Given the description of an element on the screen output the (x, y) to click on. 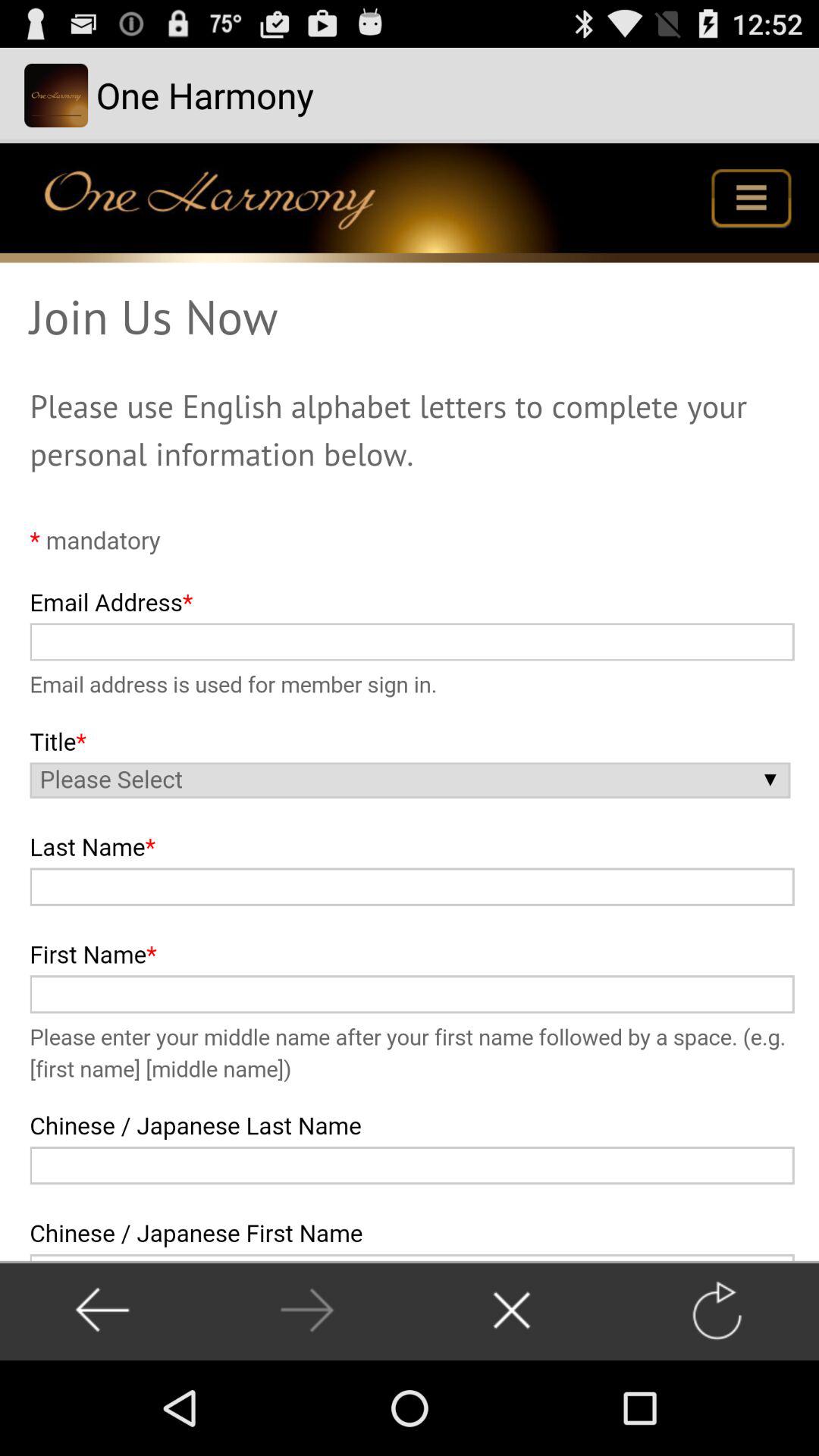
fill out profile (409, 701)
